Given the description of an element on the screen output the (x, y) to click on. 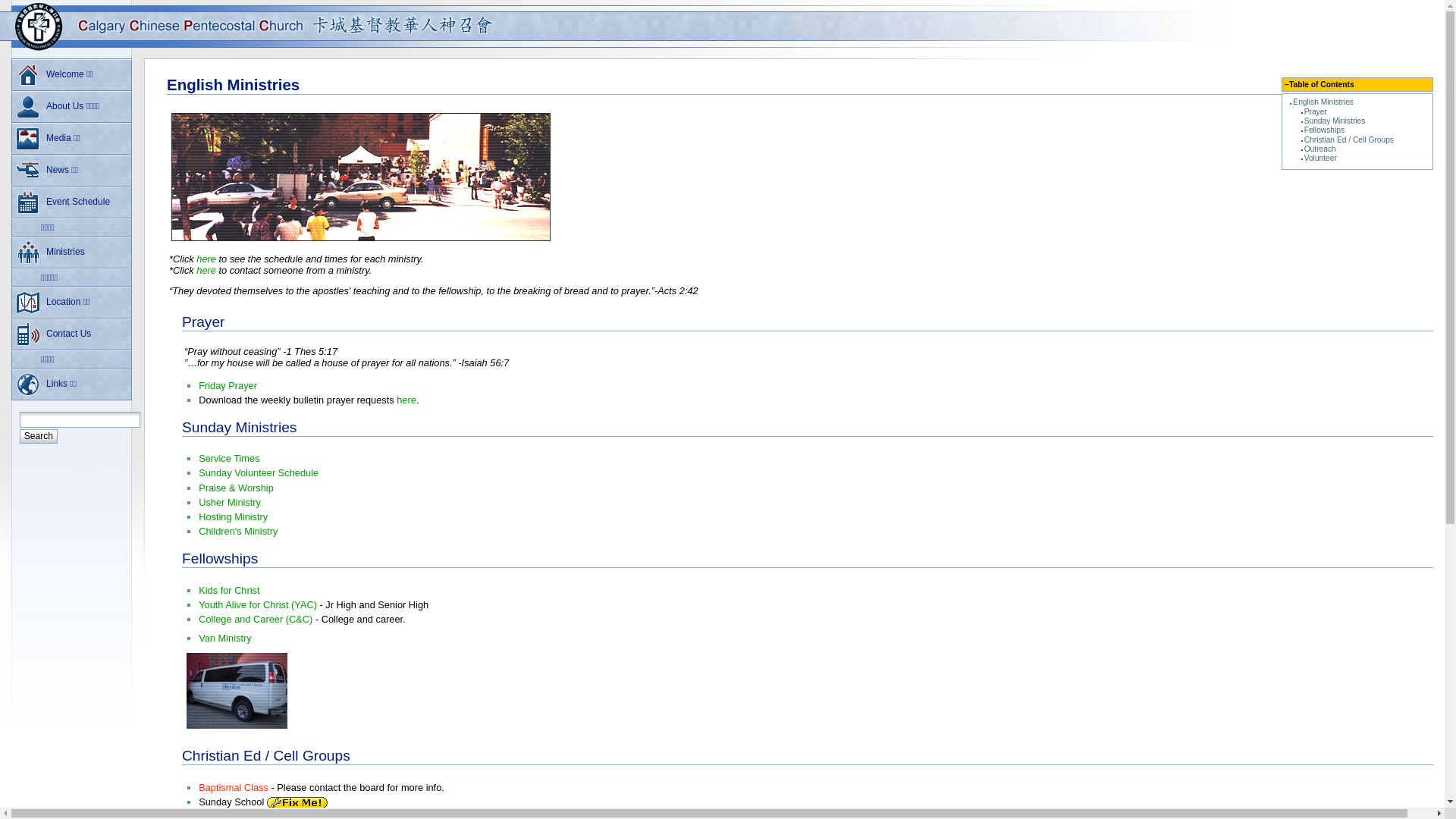
Praise & Worship Element type: text (235, 487)
here Element type: text (206, 258)
Sunday Volunteer Schedule Element type: text (258, 472)
Fellowships Element type: text (1324, 129)
Prayer Element type: text (1315, 111)
here Element type: text (406, 399)
Outreach Element type: text (1320, 148)
College and Career (C&C) Element type: text (255, 618)
English Ministries Element type: text (232, 84)
Ministries Element type: text (71, 252)
Van Ministry Element type: text (224, 637)
Sunday Ministries Element type: text (1334, 120)
Contact Us Element type: text (71, 334)
images:streetparty2002.jpg Element type: hover (360, 239)
Service Times Element type: text (228, 458)
Event Schedule Element type: text (71, 202)
Volunteer Element type: text (1320, 157)
Christian Ed / Cell Groups Element type: text (266, 755)
images:van.jpg Element type: hover (236, 727)
Search Element type: text (38, 436)
Baptismal Class Element type: text (233, 787)
Children's Ministry Element type: text (237, 530)
[ALT+F] Element type: hover (79, 419)
Prayer Element type: text (203, 321)
here Element type: text (206, 269)
English Ministries Element type: text (1322, 101)
Friday Prayer Element type: text (227, 385)
van.jpg Element type: hover (236, 690)
Youth Alive for Christ (YAC) Element type: text (257, 604)
Hosting Ministry Element type: text (232, 516)
Kids for Christ Element type: text (228, 590)
Usher Ministry Element type: text (229, 502)
Christian Ed / Cell Groups Element type: text (1348, 139)
Fellowships Element type: text (219, 558)
Search Element type: hover (38, 436)
Sunday Ministries Element type: text (239, 427)
